Given the description of an element on the screen output the (x, y) to click on. 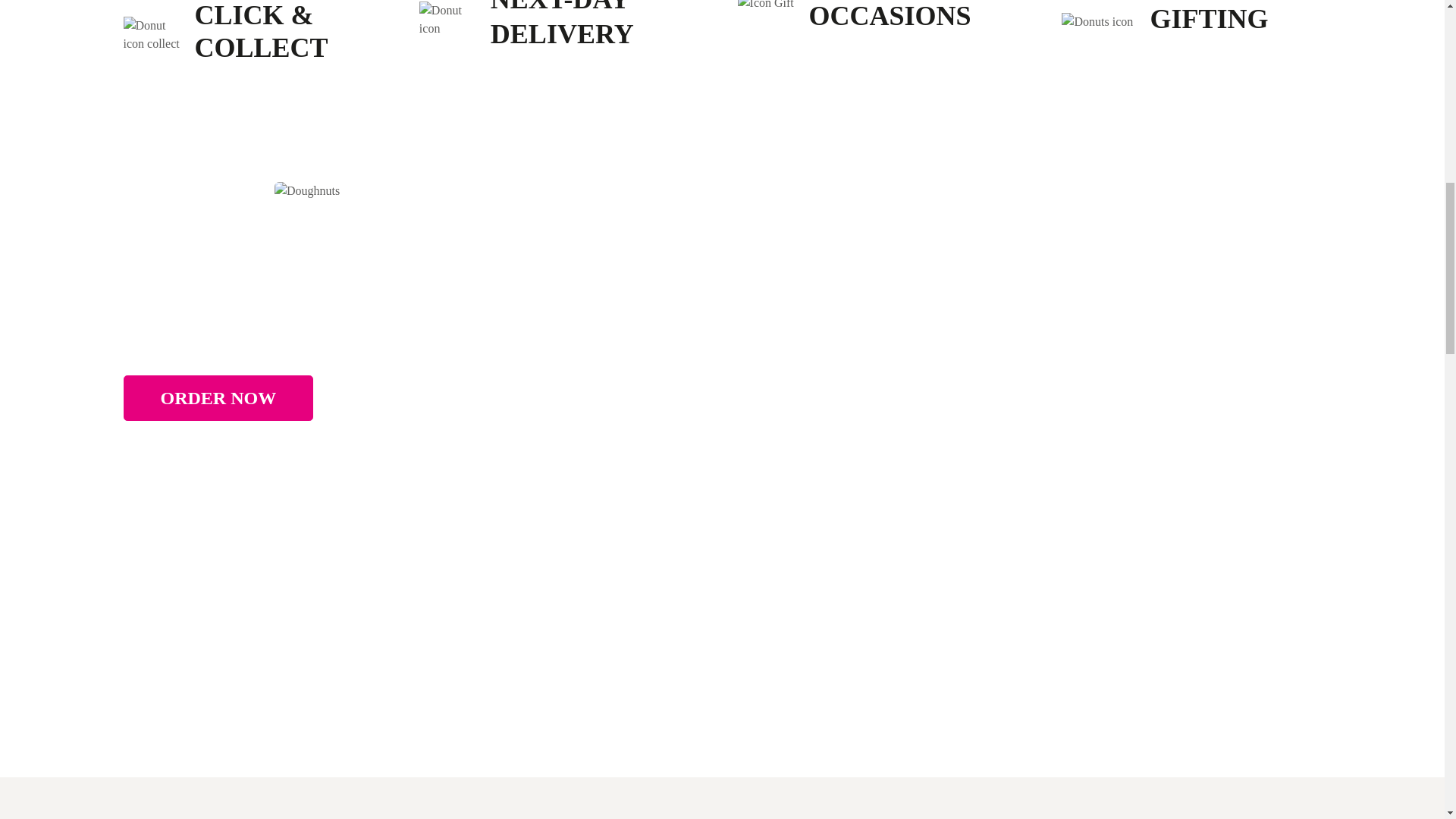
GIFTING (1209, 19)
SPECIAL OCCASIONS (889, 15)
NEXT-DAY DELIVERY (564, 24)
ORDER NOW (217, 397)
